Given the description of an element on the screen output the (x, y) to click on. 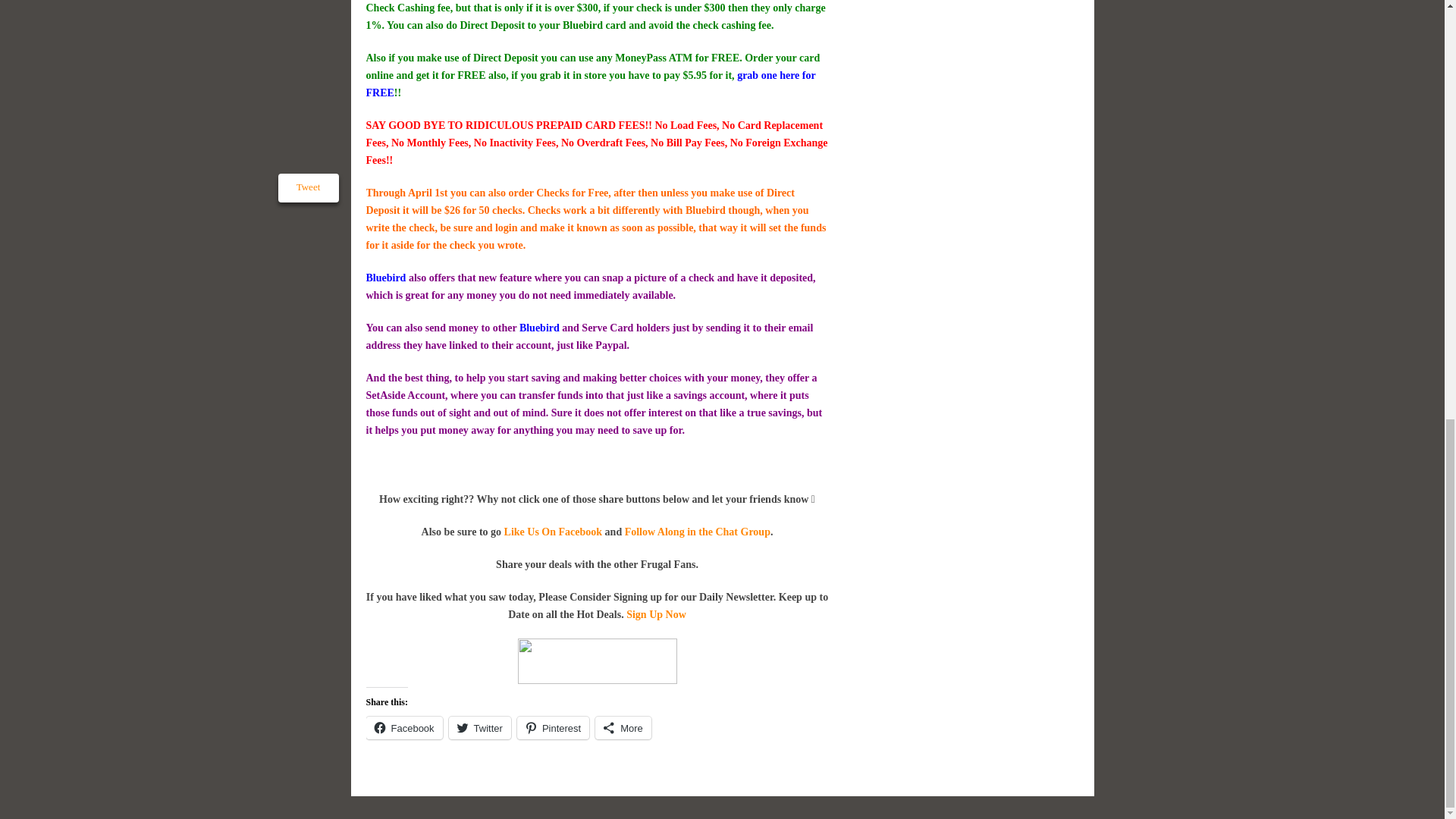
Click to share on Twitter (479, 727)
Click to share on Facebook (403, 727)
Click to share on Pinterest (552, 727)
